Given the description of an element on the screen output the (x, y) to click on. 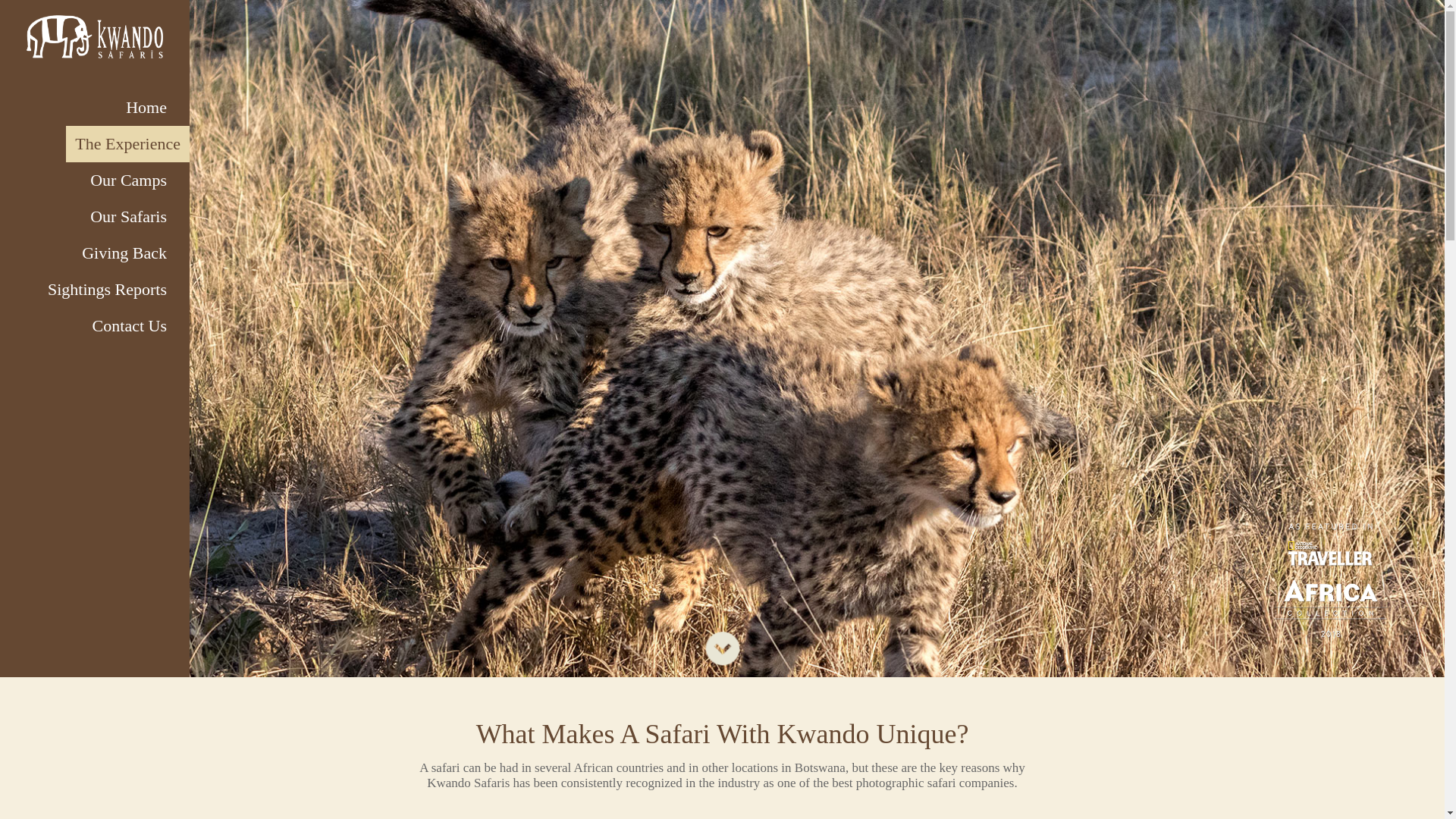
Our Safaris (128, 217)
Sightings Reports (107, 289)
Kwando (94, 37)
Contact Us (130, 325)
Home (146, 107)
The Experience (127, 144)
Giving Back (124, 253)
Our Camps (128, 180)
